Given the description of an element on the screen output the (x, y) to click on. 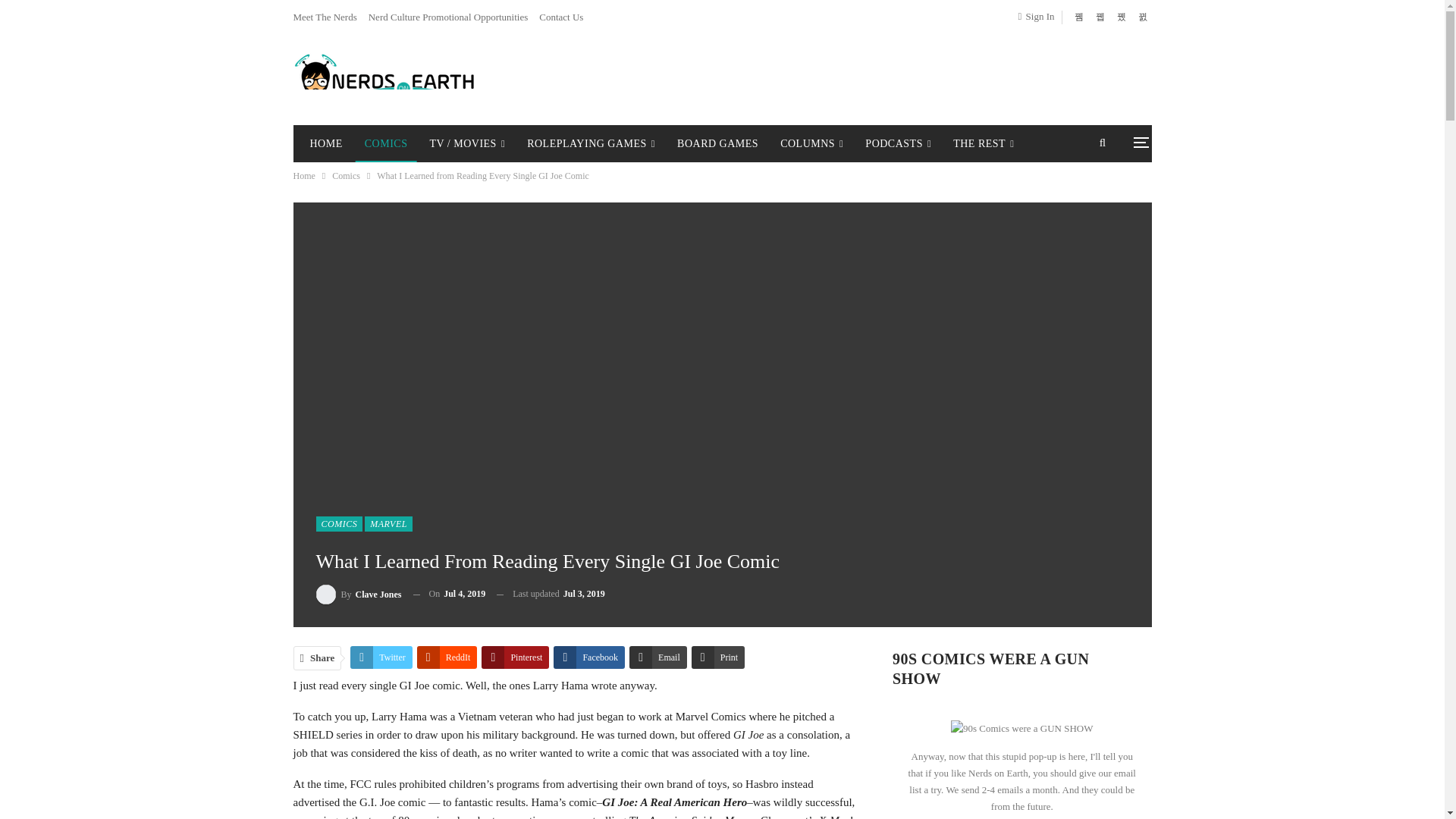
HOME (324, 144)
THE REST (983, 144)
Nerd Culture Promotional Opportunities (448, 16)
BOARD GAMES (717, 144)
COLUMNS (811, 144)
Meet The Nerds (324, 16)
PODCASTS (898, 144)
Sign In (1039, 16)
Browse Author Articles (358, 593)
